Given the description of an element on the screen output the (x, y) to click on. 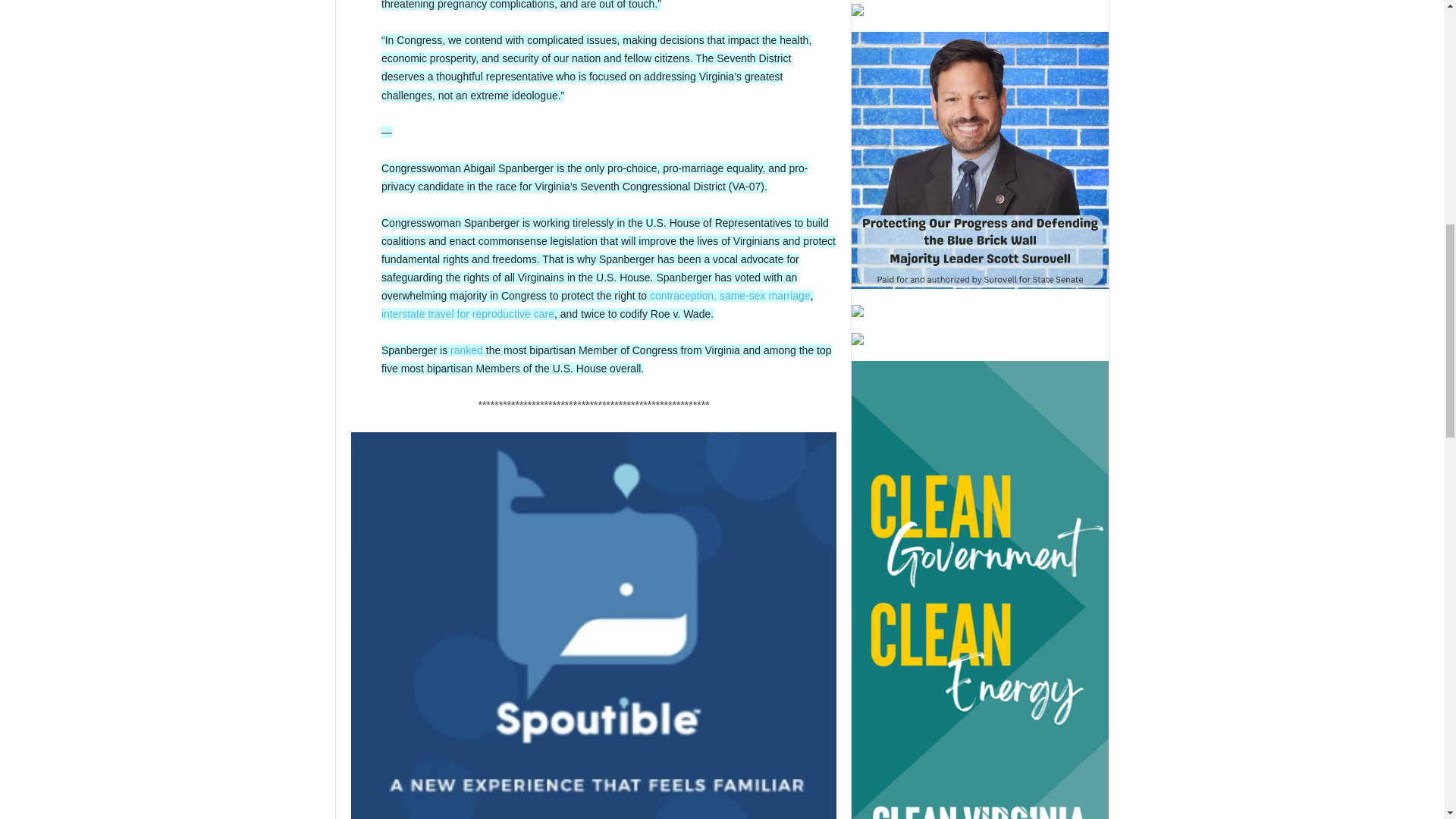
ranked (466, 349)
interstate travel for reproductive care (467, 313)
contraception, same-sex marriage (729, 295)
